Given the description of an element on the screen output the (x, y) to click on. 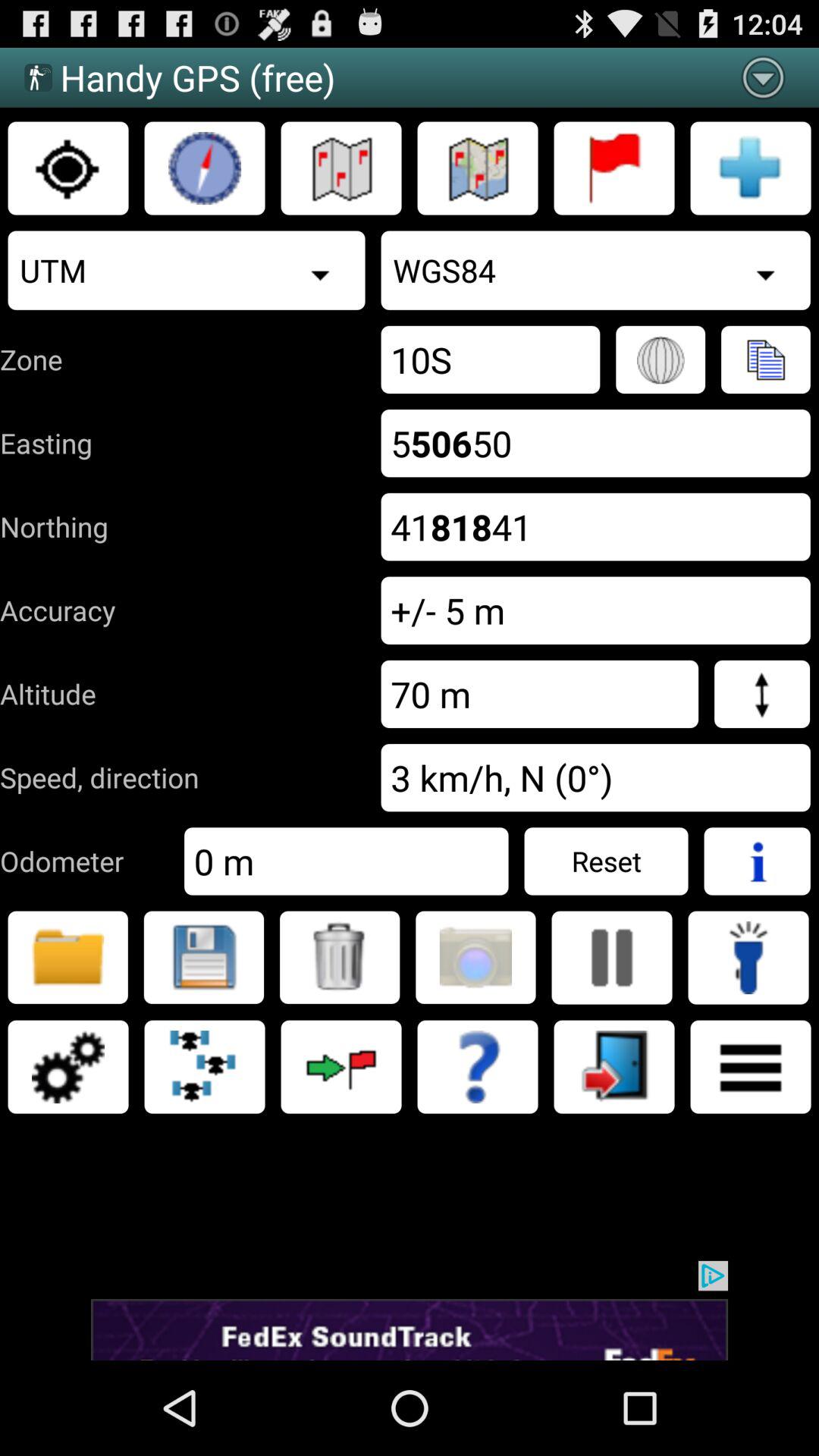
align north (204, 167)
